Given the description of an element on the screen output the (x, y) to click on. 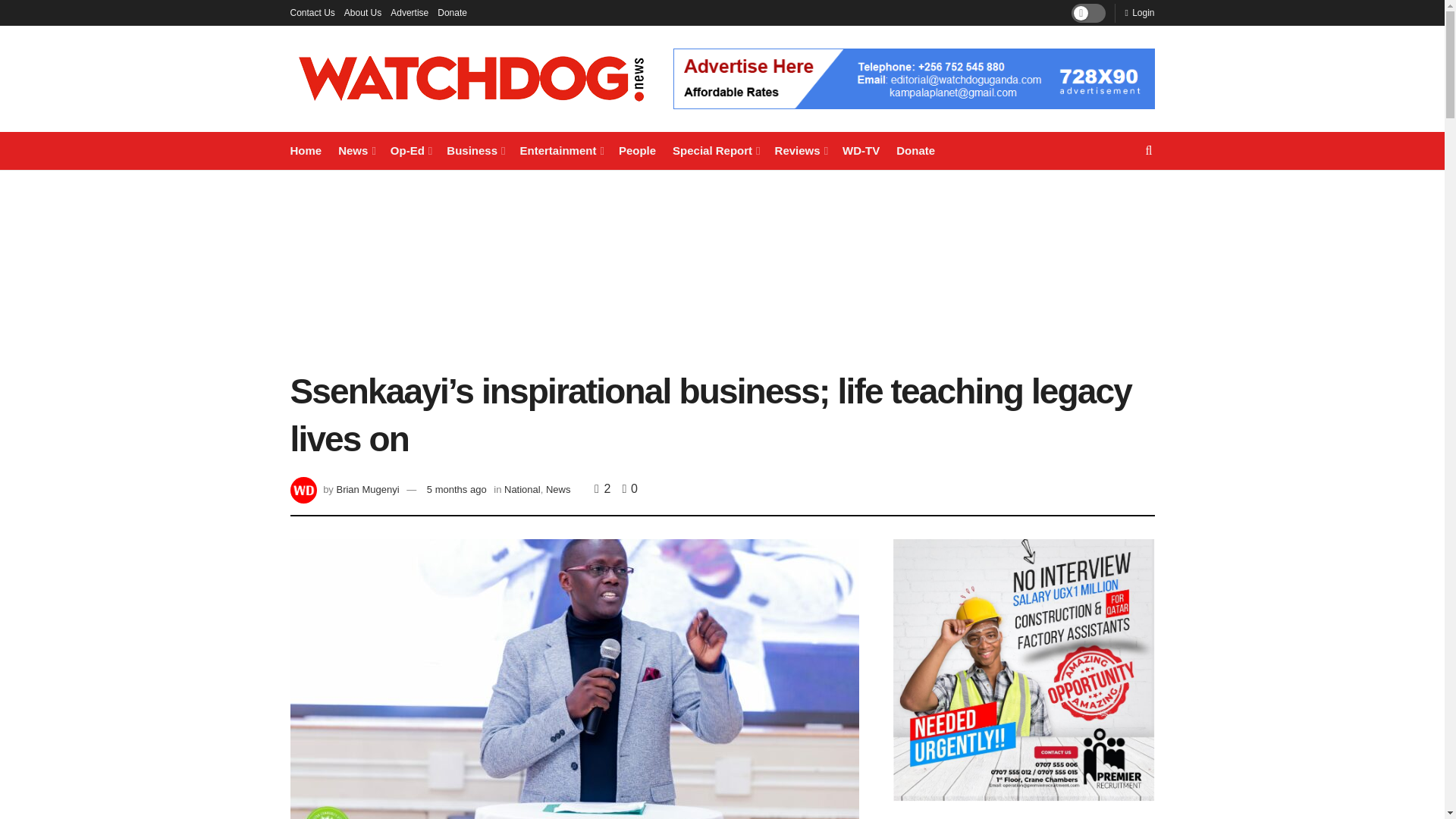
People (637, 150)
Home (305, 150)
Advertise (409, 12)
Login (1139, 12)
News (355, 150)
About Us (362, 12)
Advertisement (721, 268)
Donate (452, 12)
Contact Us (311, 12)
Special Report (715, 150)
Business (474, 150)
Op-Ed (409, 150)
Entertainment (560, 150)
